Given the description of an element on the screen output the (x, y) to click on. 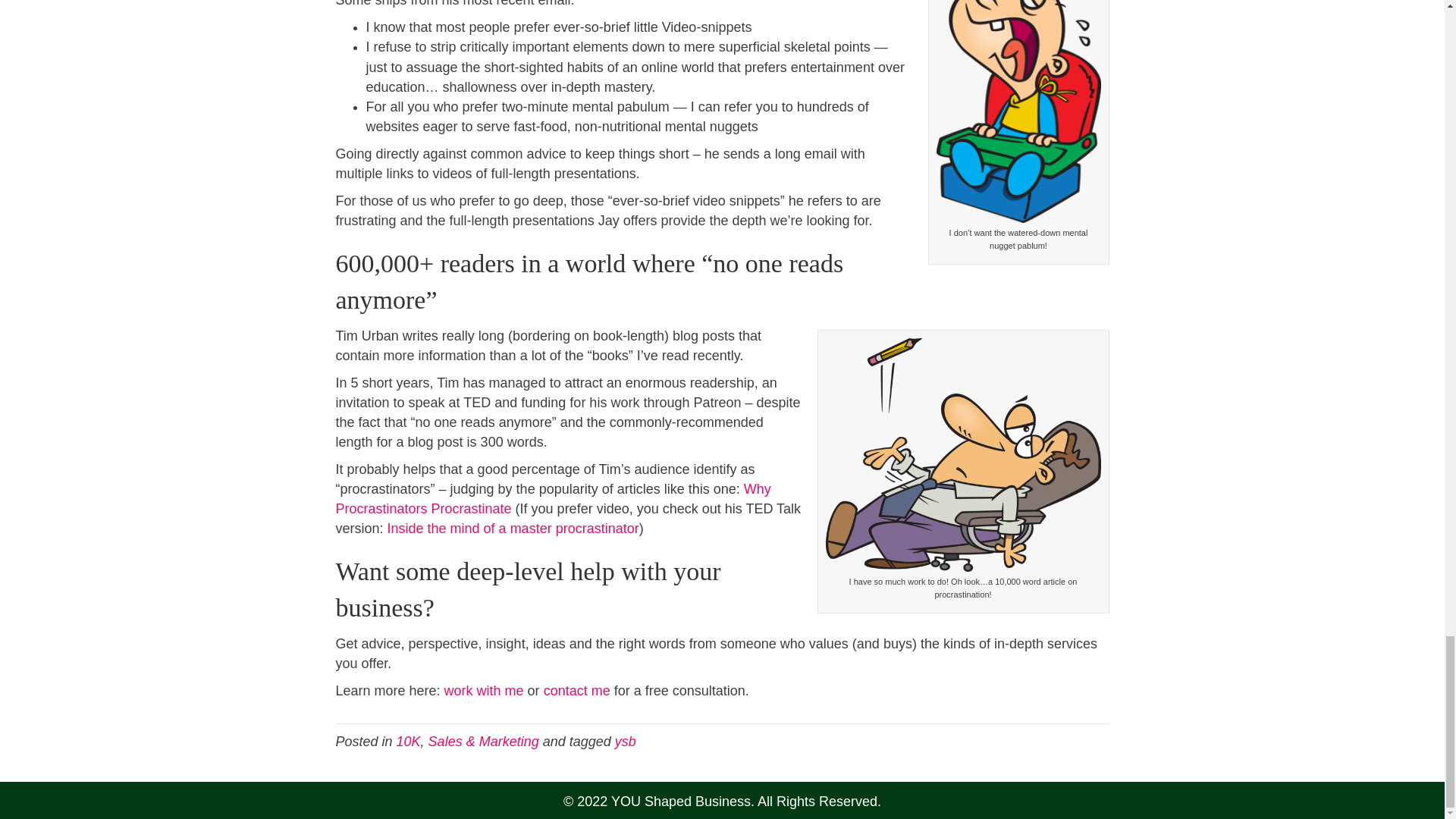
Why Procrastinators Procrastinate (552, 498)
Inside the mind of a master procrastinator (513, 528)
ysb (625, 741)
contact me (576, 690)
10K (408, 741)
work with me (484, 690)
